Given the description of an element on the screen output the (x, y) to click on. 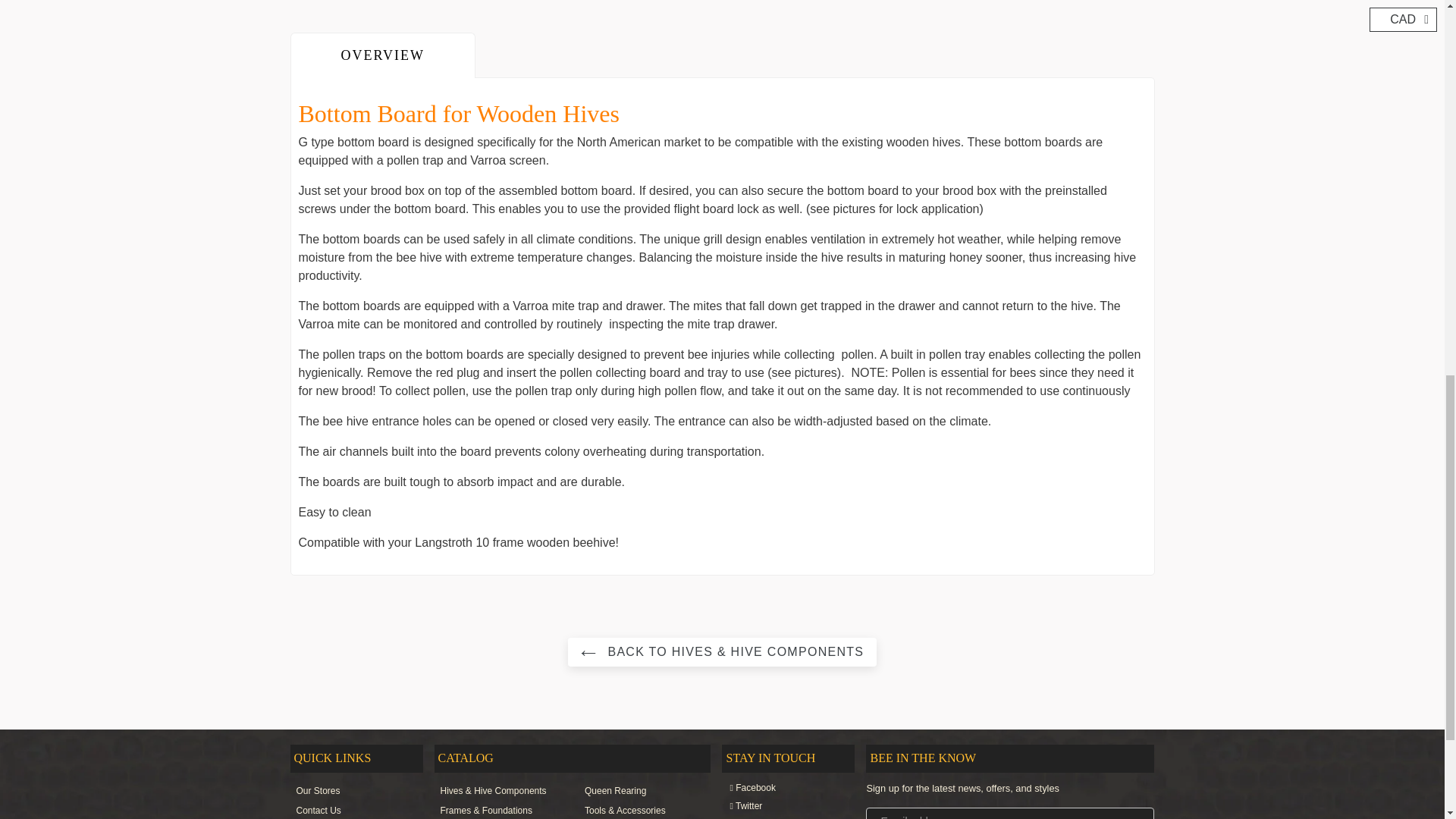
ApiHex on Instagram (780, 818)
ApiHex on Facebook (780, 787)
ApiHex on Twitter (780, 806)
